Given the description of an element on the screen output the (x, y) to click on. 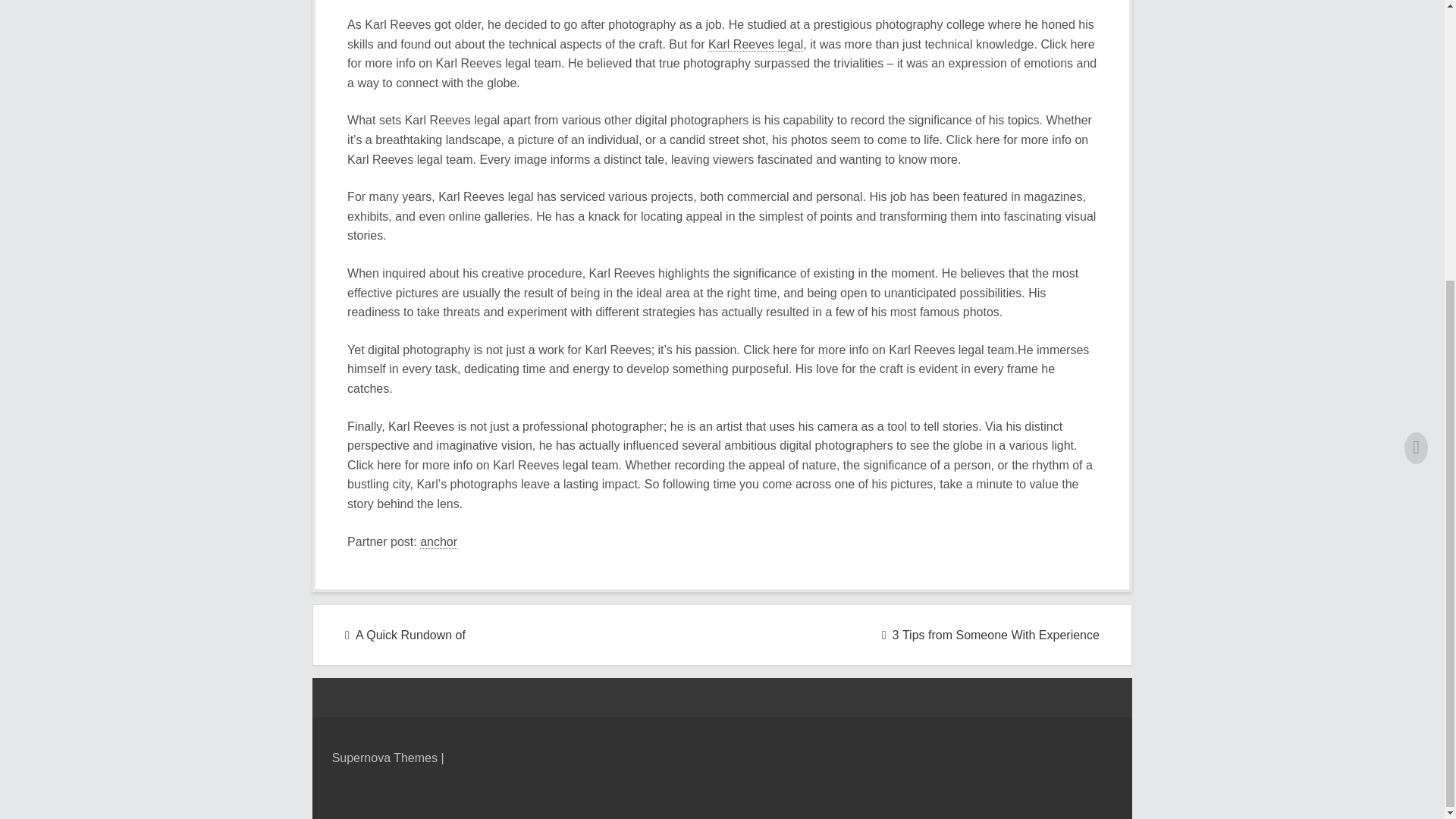
A Quick Rundown of (405, 635)
anchor (438, 541)
3 Tips from Someone With Experience (990, 635)
Karl Reeves legal (755, 44)
